Given the description of an element on the screen output the (x, y) to click on. 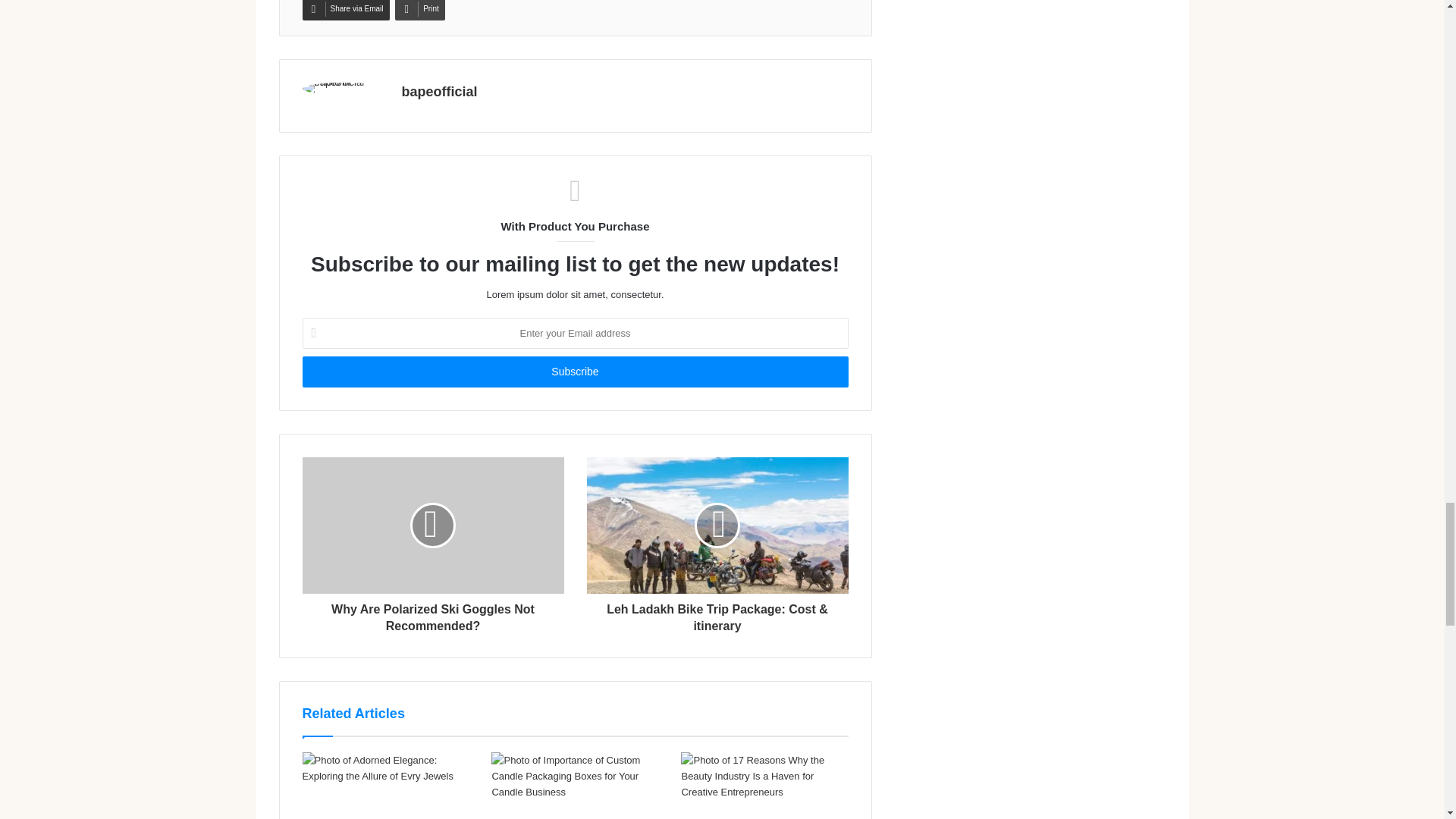
Share via Email (344, 10)
Print (419, 10)
Subscribe (574, 371)
